Given the description of an element on the screen output the (x, y) to click on. 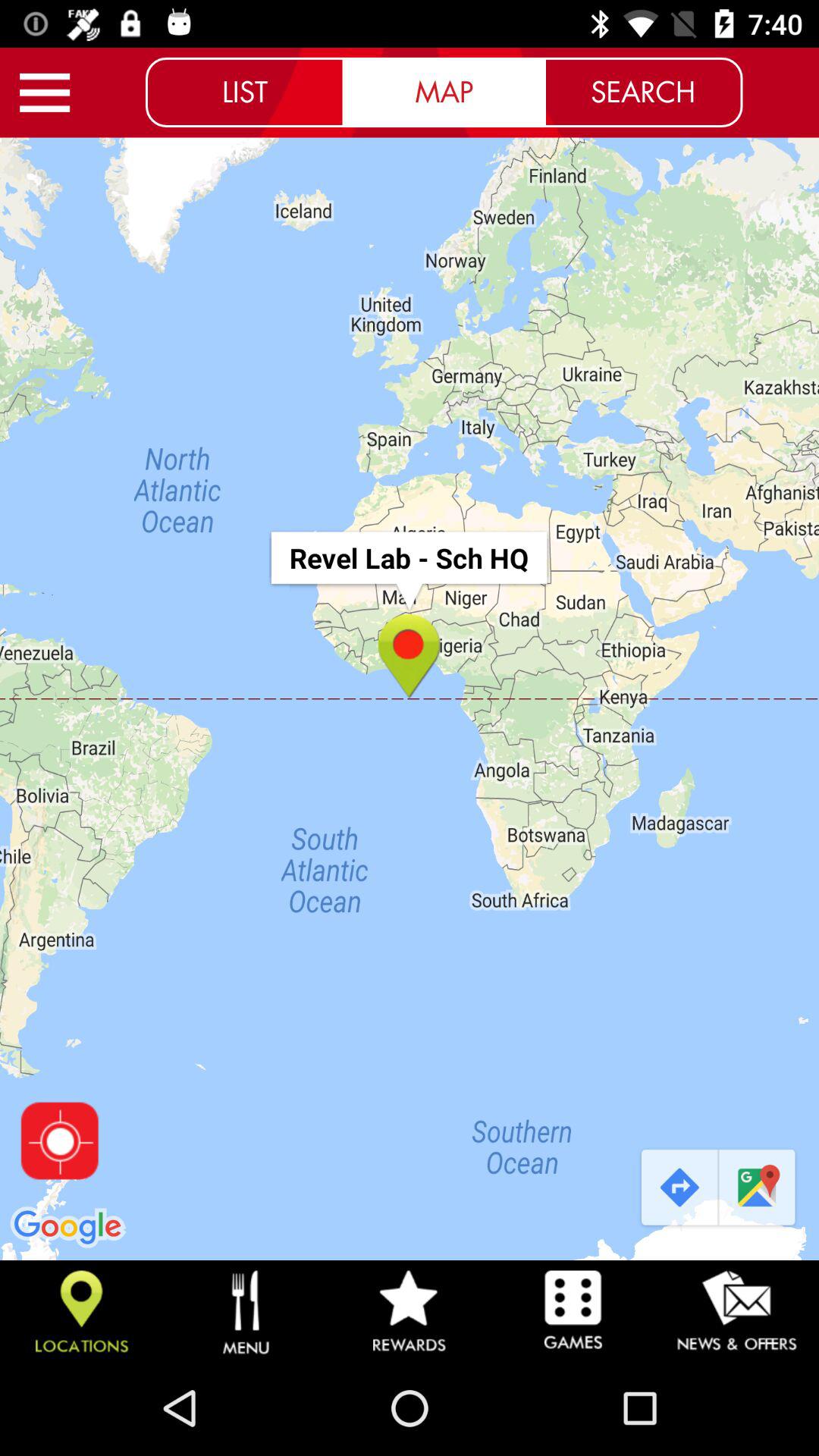
launch the icon to the right of map item (642, 92)
